Given the description of an element on the screen output the (x, y) to click on. 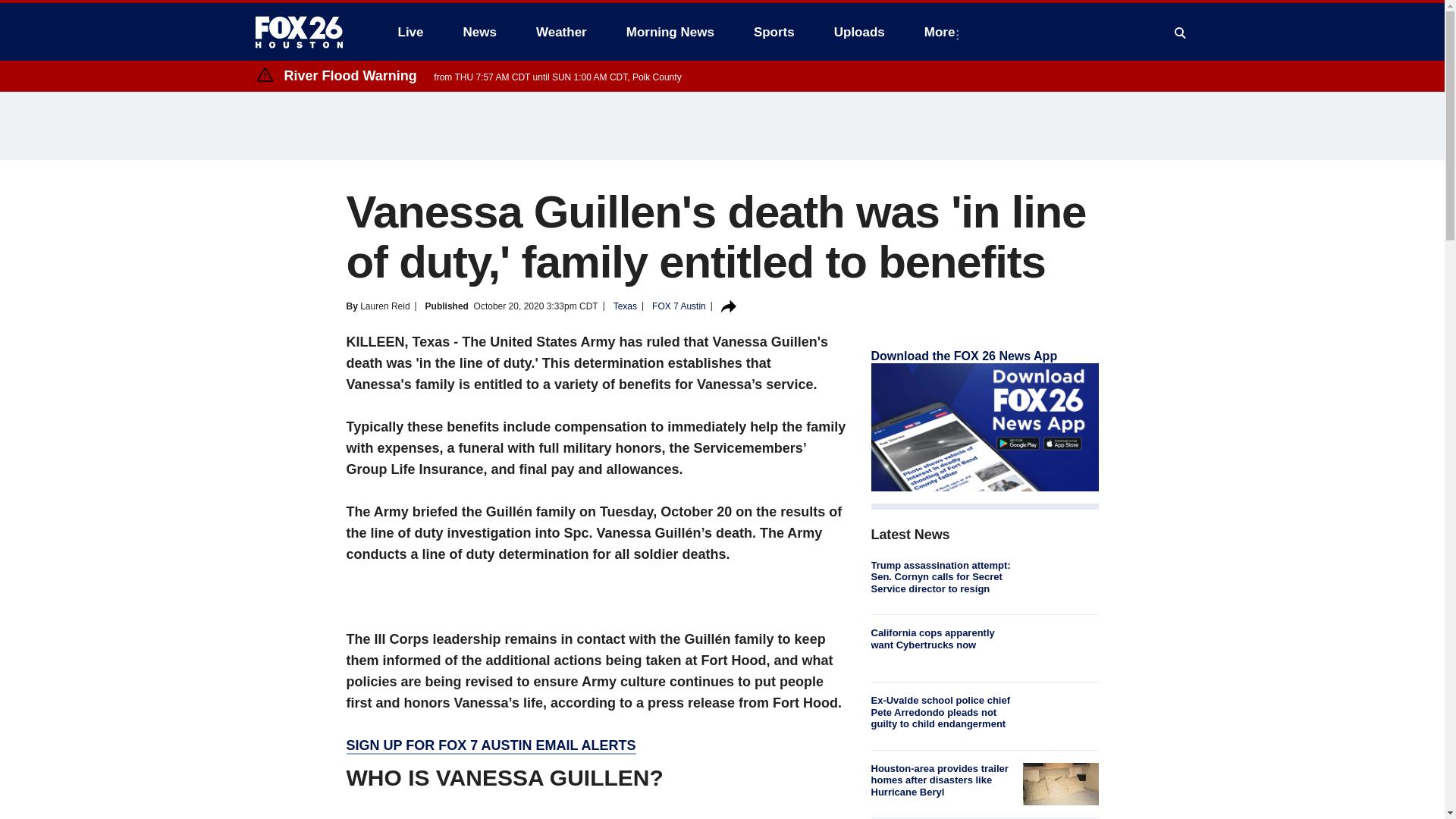
Morning News (670, 32)
Uploads (859, 32)
Weather (561, 32)
More (943, 32)
News (479, 32)
Sports (773, 32)
Live (410, 32)
